Given the description of an element on the screen output the (x, y) to click on. 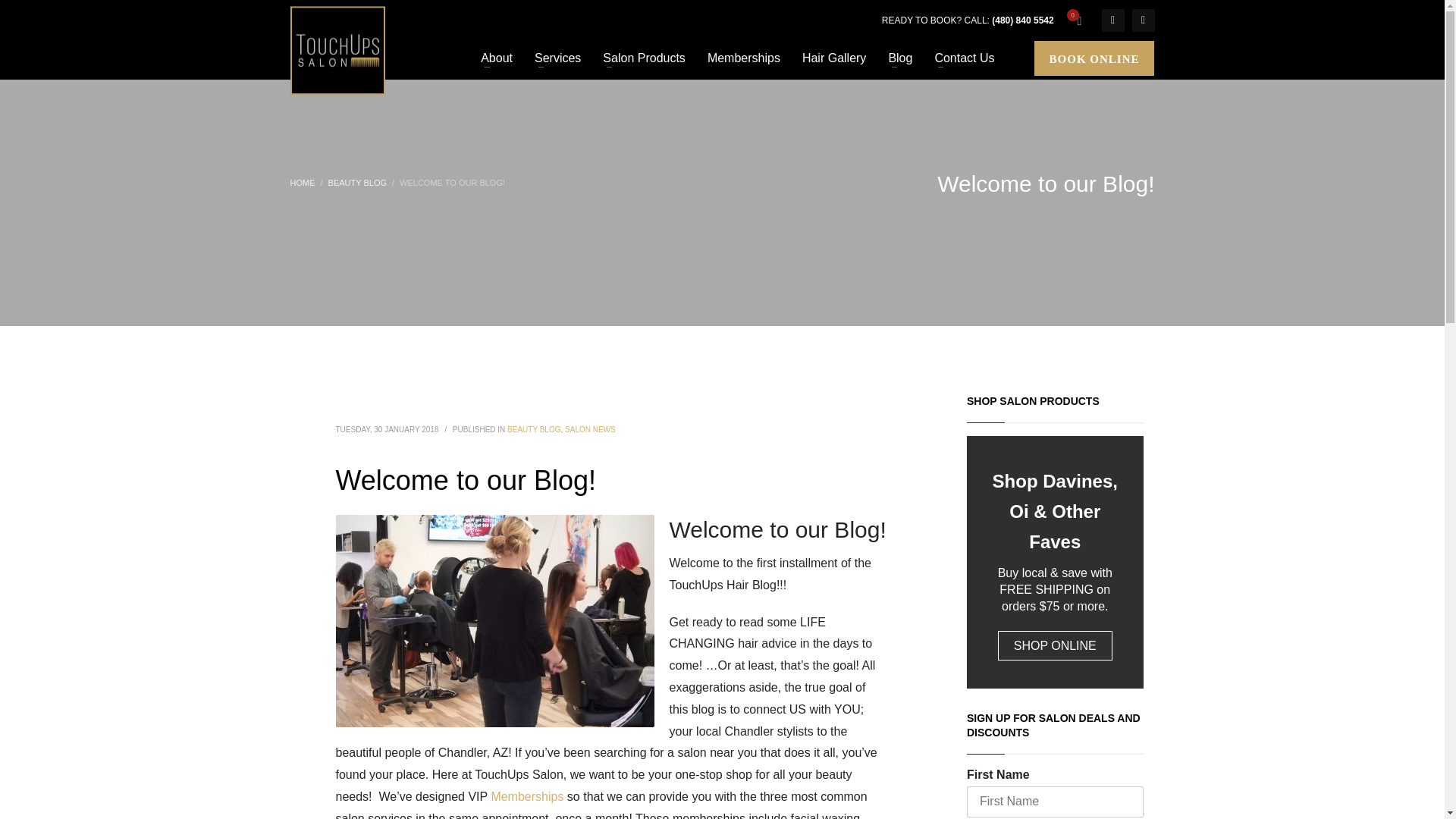
Services (557, 57)
Hair Gallery (834, 57)
Facebook (1112, 20)
Blog (900, 57)
About (496, 57)
Salon Products (644, 57)
Instagram (1142, 20)
Memberships (743, 57)
View your shopping cart (1077, 20)
Contact Us (963, 57)
